Given the description of an element on the screen output the (x, y) to click on. 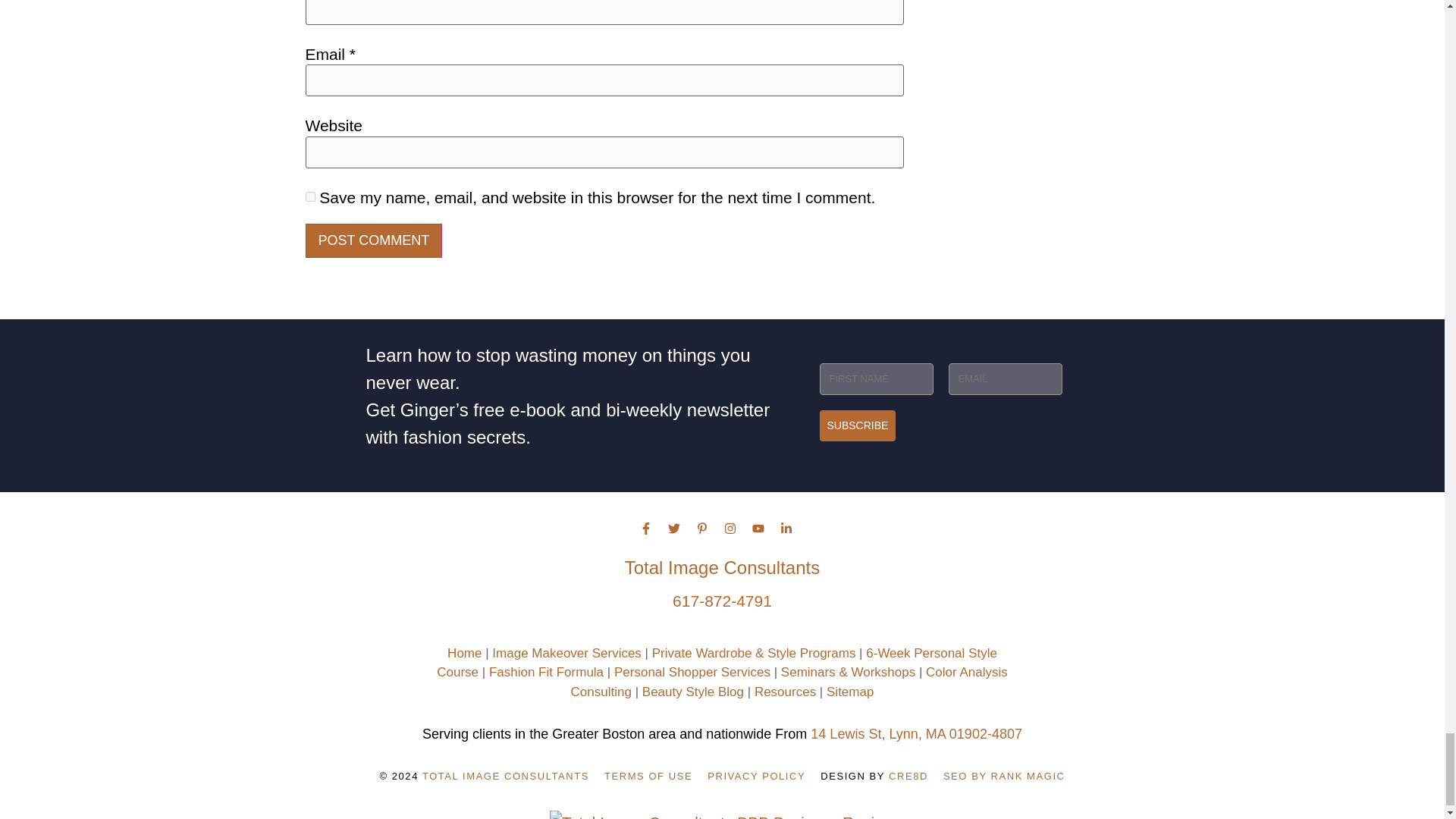
Fashion Fit Formula (546, 672)
Total Image Consultants Services (567, 653)
Post Comment (373, 240)
Create Your Personal Style in 6 Weeks (716, 663)
Total Image Consultants Home (463, 653)
yes (309, 196)
Color Analysis Consulting (788, 682)
Personal Shopper Services (692, 672)
